Given the description of an element on the screen output the (x, y) to click on. 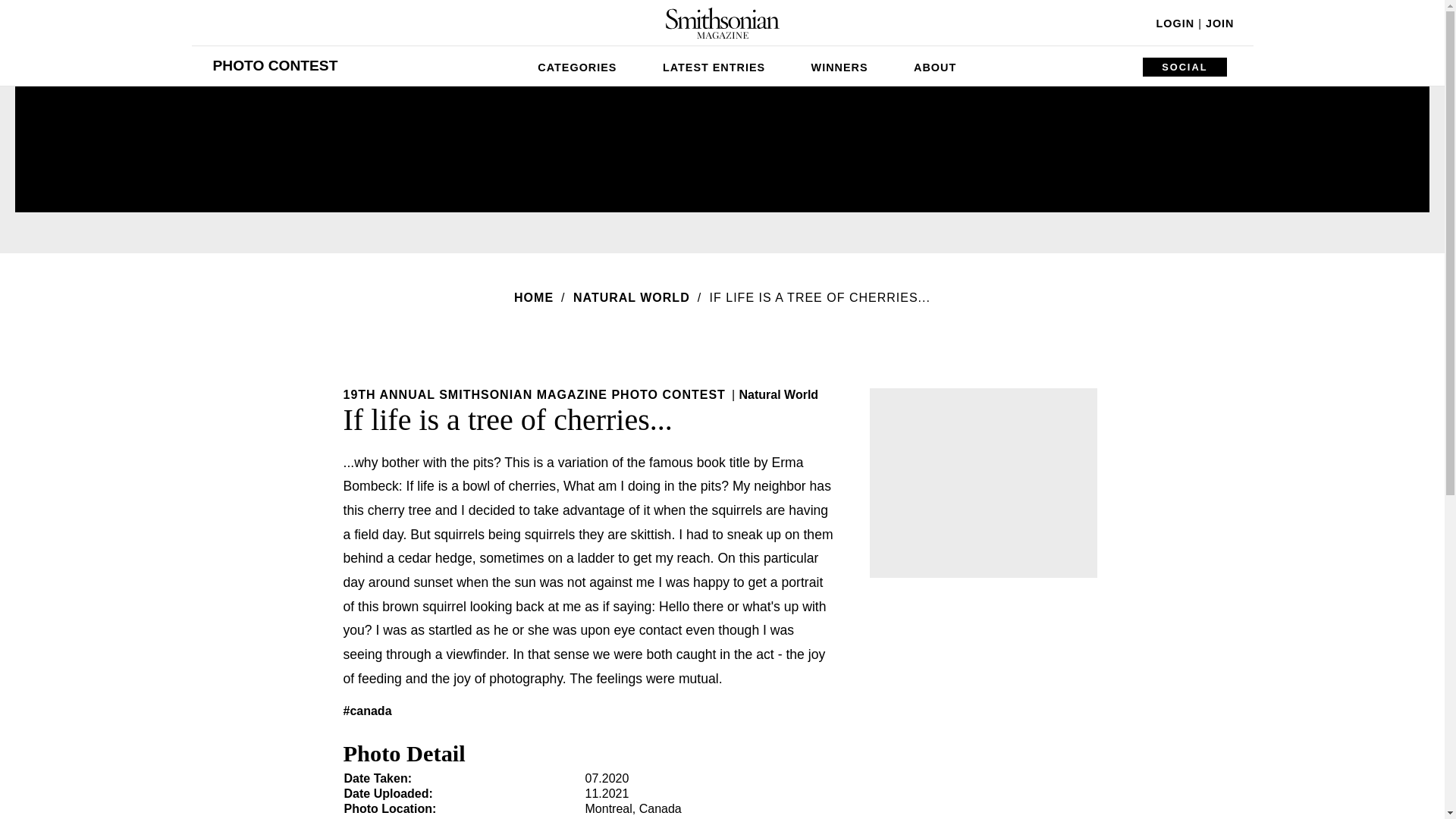
JOIN (1219, 23)
WINNERS (839, 65)
PHOTO CONTEST (274, 65)
CATEGORIES (577, 65)
LATEST ENTRIES (713, 65)
ABOUT (934, 65)
SOCIAL (1183, 66)
